Given the description of an element on the screen output the (x, y) to click on. 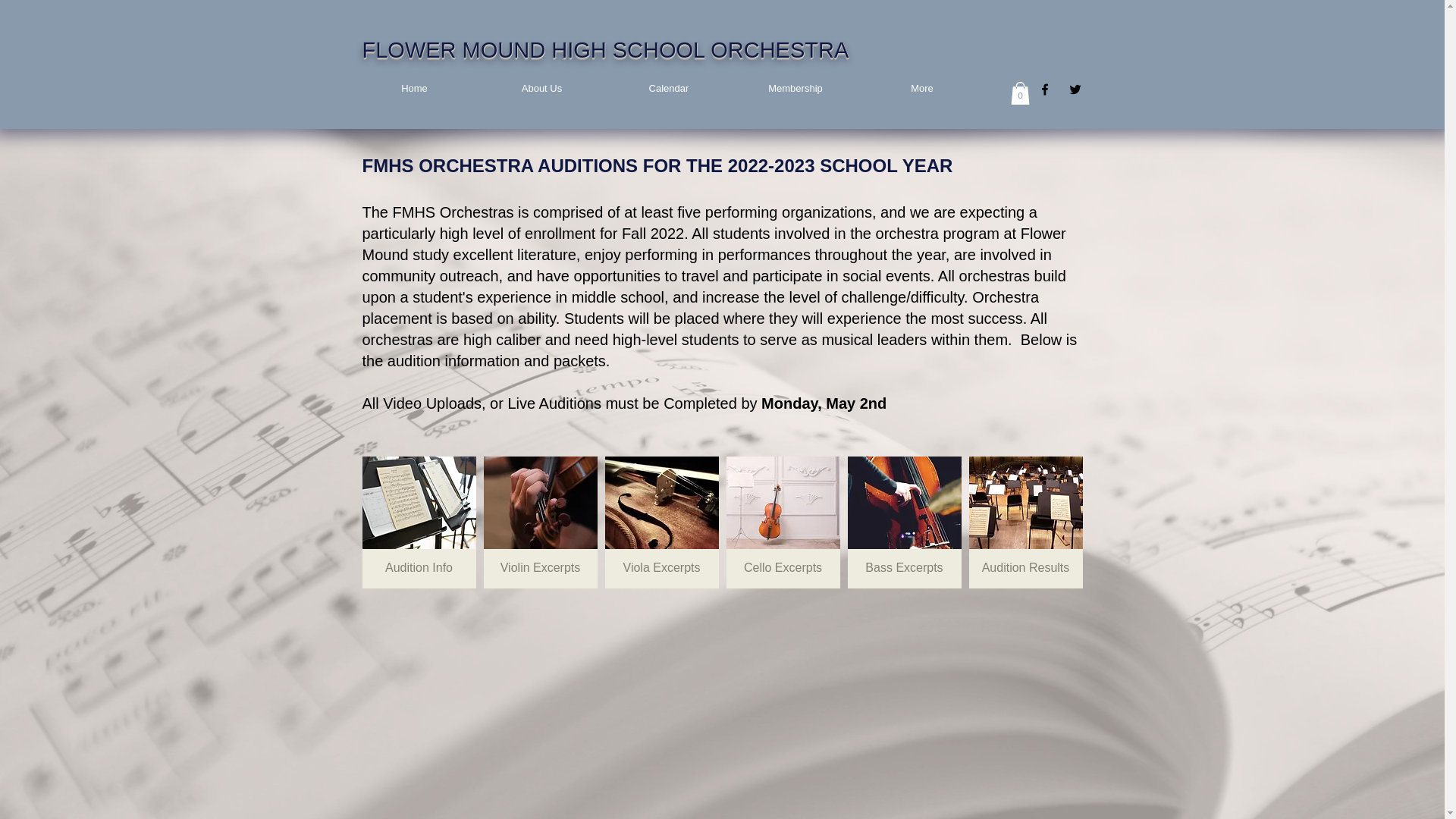
Home (413, 88)
More (922, 88)
Membership (795, 88)
Calendar (668, 88)
About Us (541, 88)
FLOWER MOUND HIGH SCHOOL ORCHESTRA (605, 49)
